Given the description of an element on the screen output the (x, y) to click on. 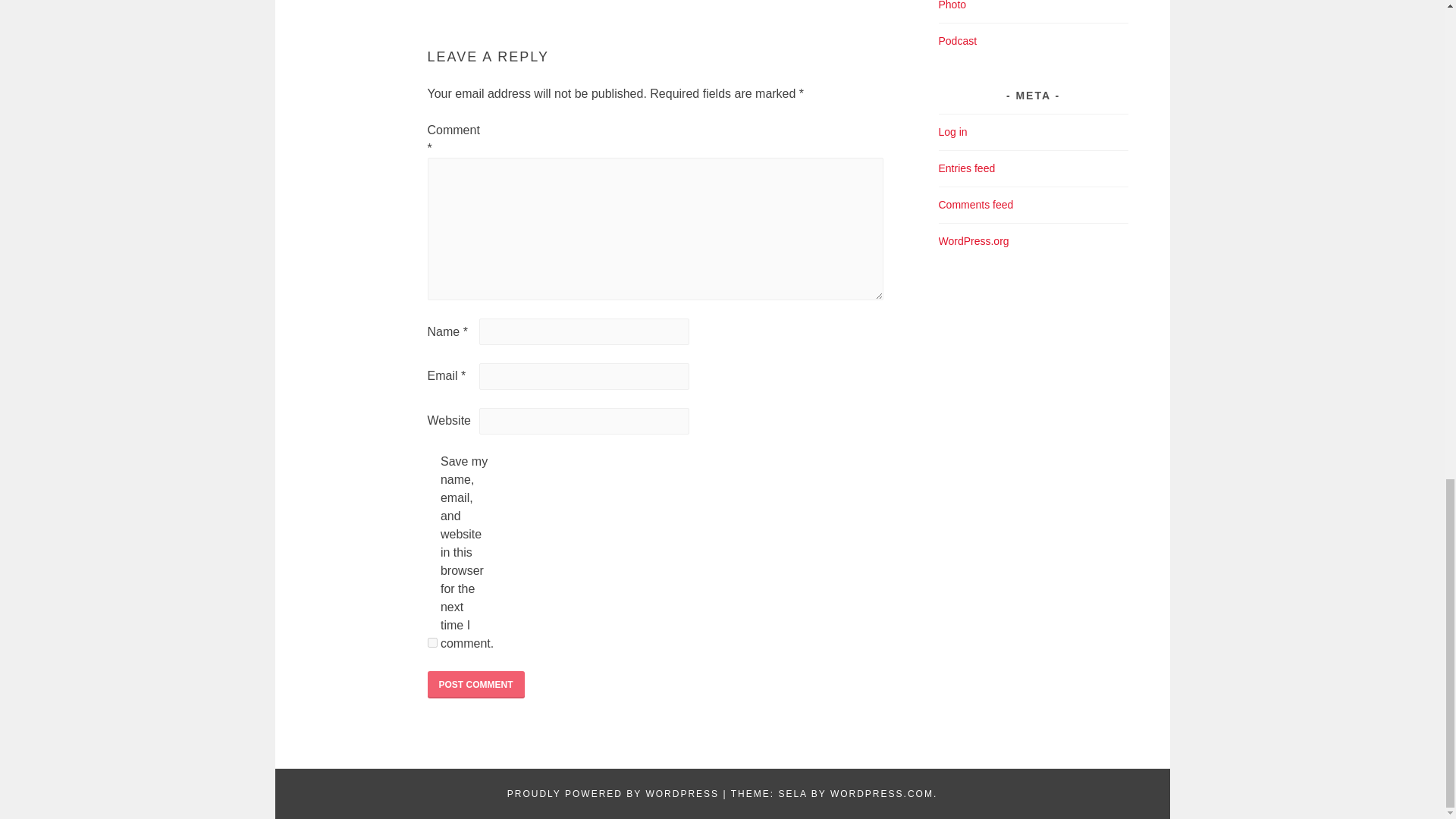
Post Comment (476, 684)
yes (433, 642)
A Semantic Personal Publishing Platform (612, 793)
Post Comment (476, 684)
